Given the description of an element on the screen output the (x, y) to click on. 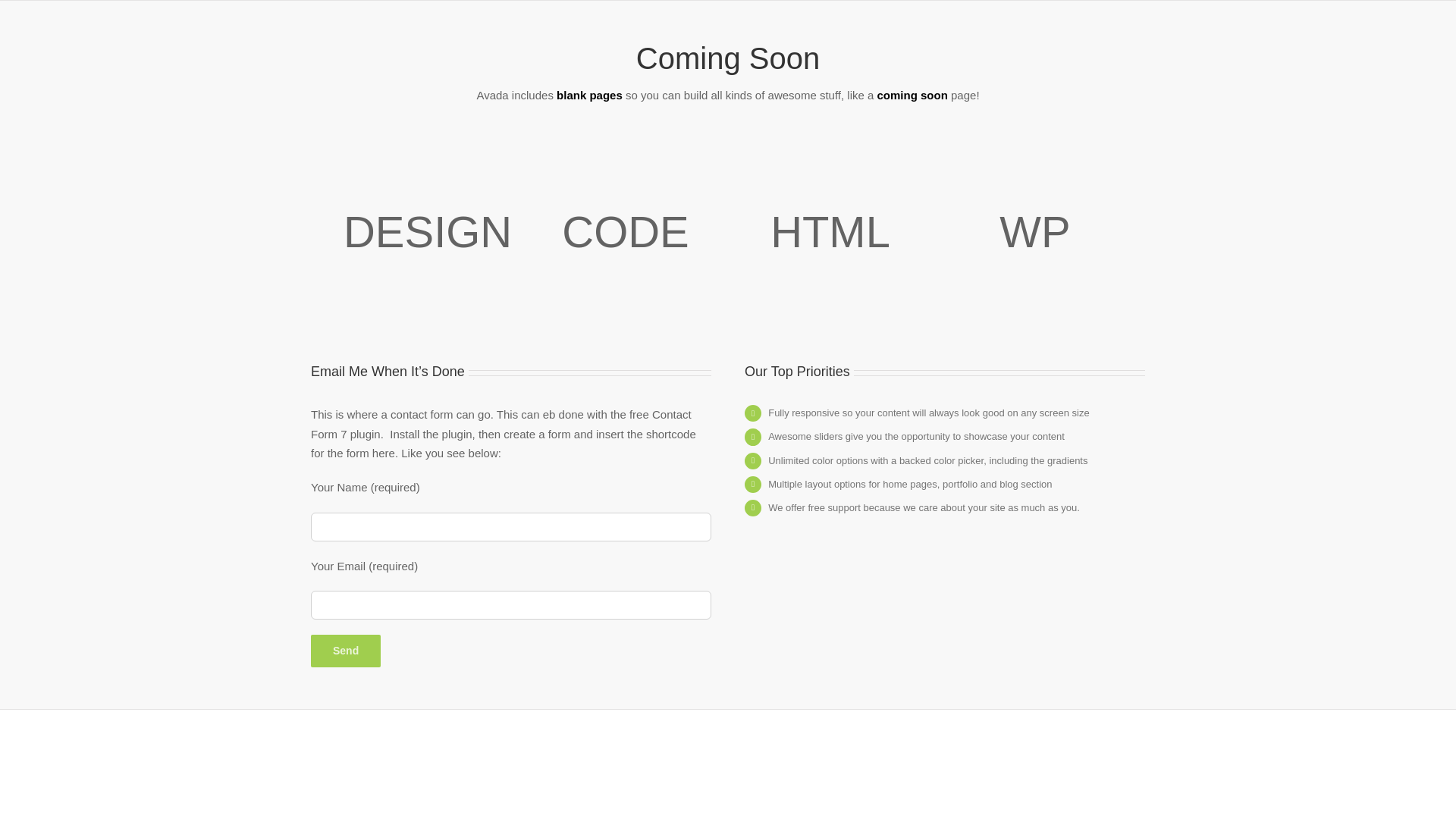
Send (345, 650)
Versatile! (589, 94)
Send (345, 650)
Woo Hoo! (912, 94)
